Given the description of an element on the screen output the (x, y) to click on. 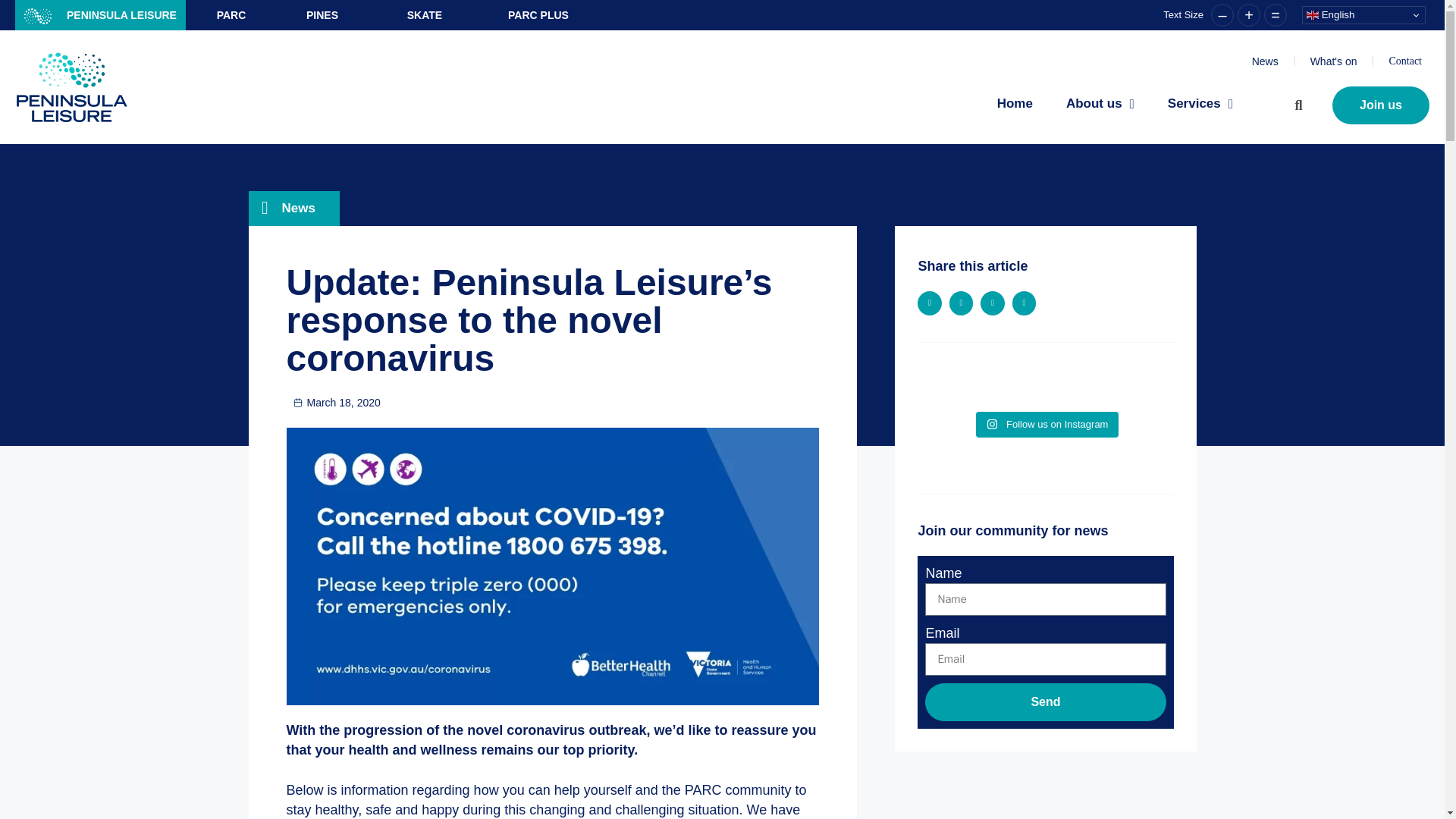
PARC (231, 15)
About us (1100, 103)
News (1265, 61)
English (1363, 14)
PENINSULA LEISURE (100, 15)
Contact (1405, 60)
Services (1200, 103)
Decrease text size (1222, 15)
Reset text size (1275, 15)
PARC PLUS (538, 15)
Increase text size (1248, 15)
SKATE (424, 15)
PINES (322, 15)
Home (1014, 103)
What's on (1333, 61)
